Given the description of an element on the screen output the (x, y) to click on. 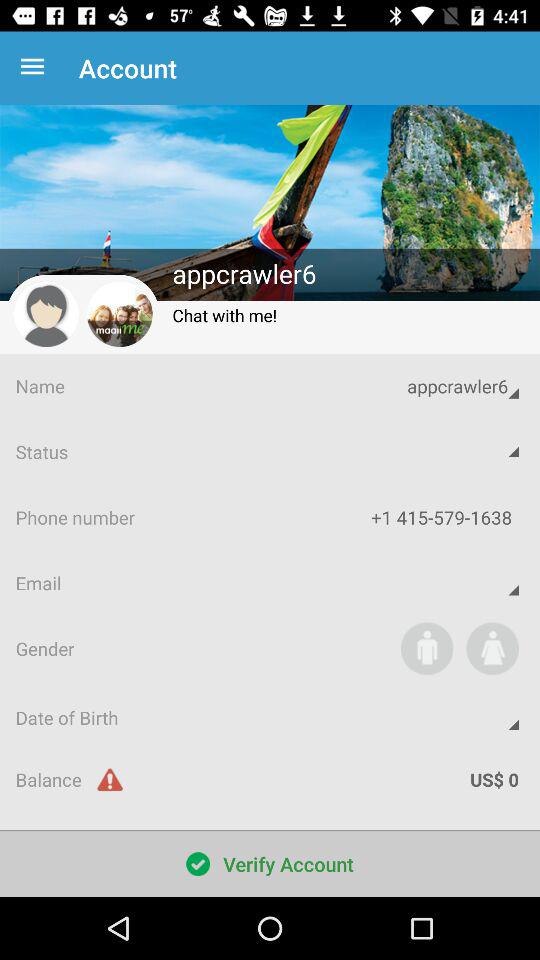
turn on the item to the right of the gender (426, 648)
